Given the description of an element on the screen output the (x, y) to click on. 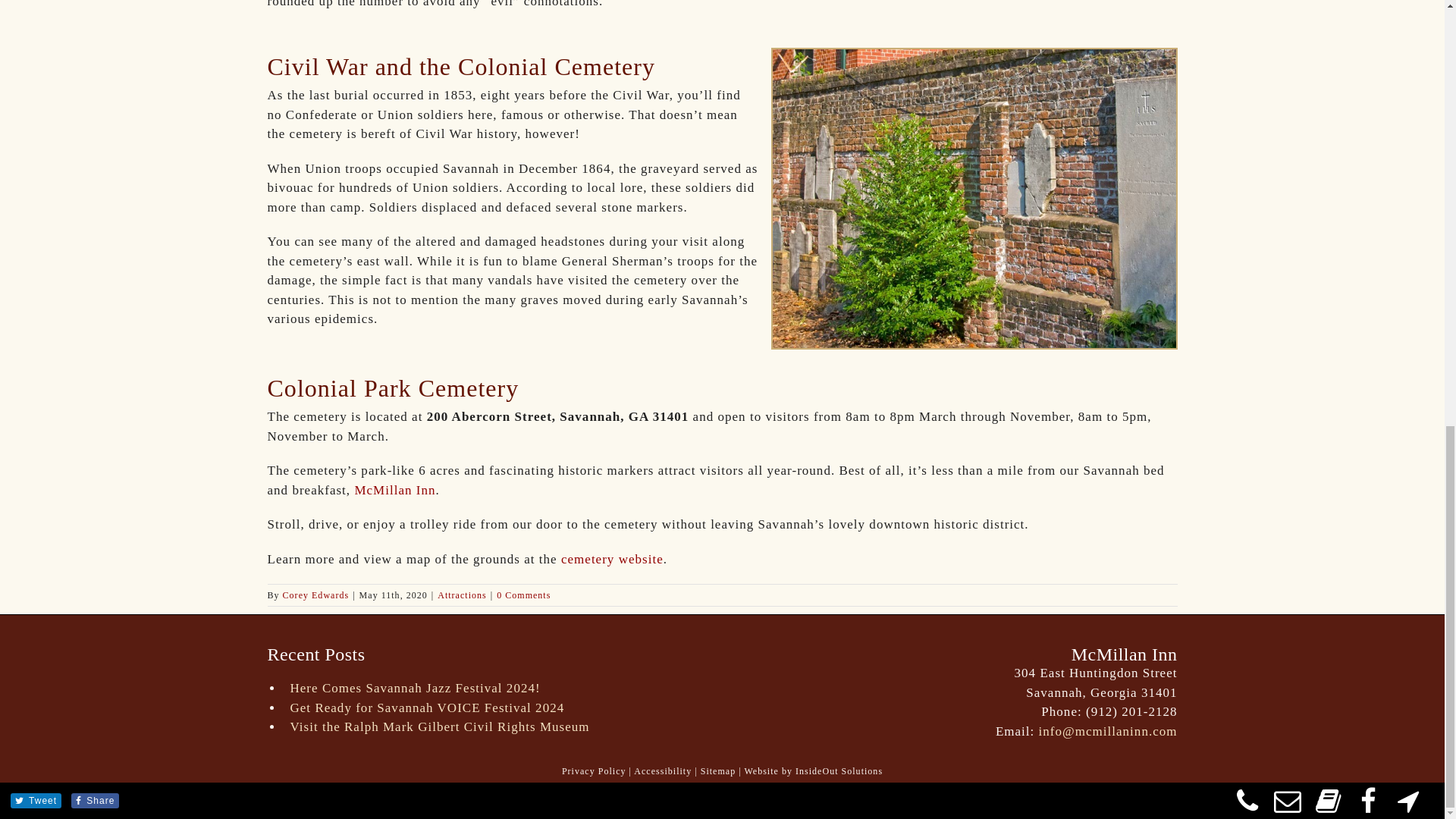
Posts by Corey Edwards (315, 594)
